Given the description of an element on the screen output the (x, y) to click on. 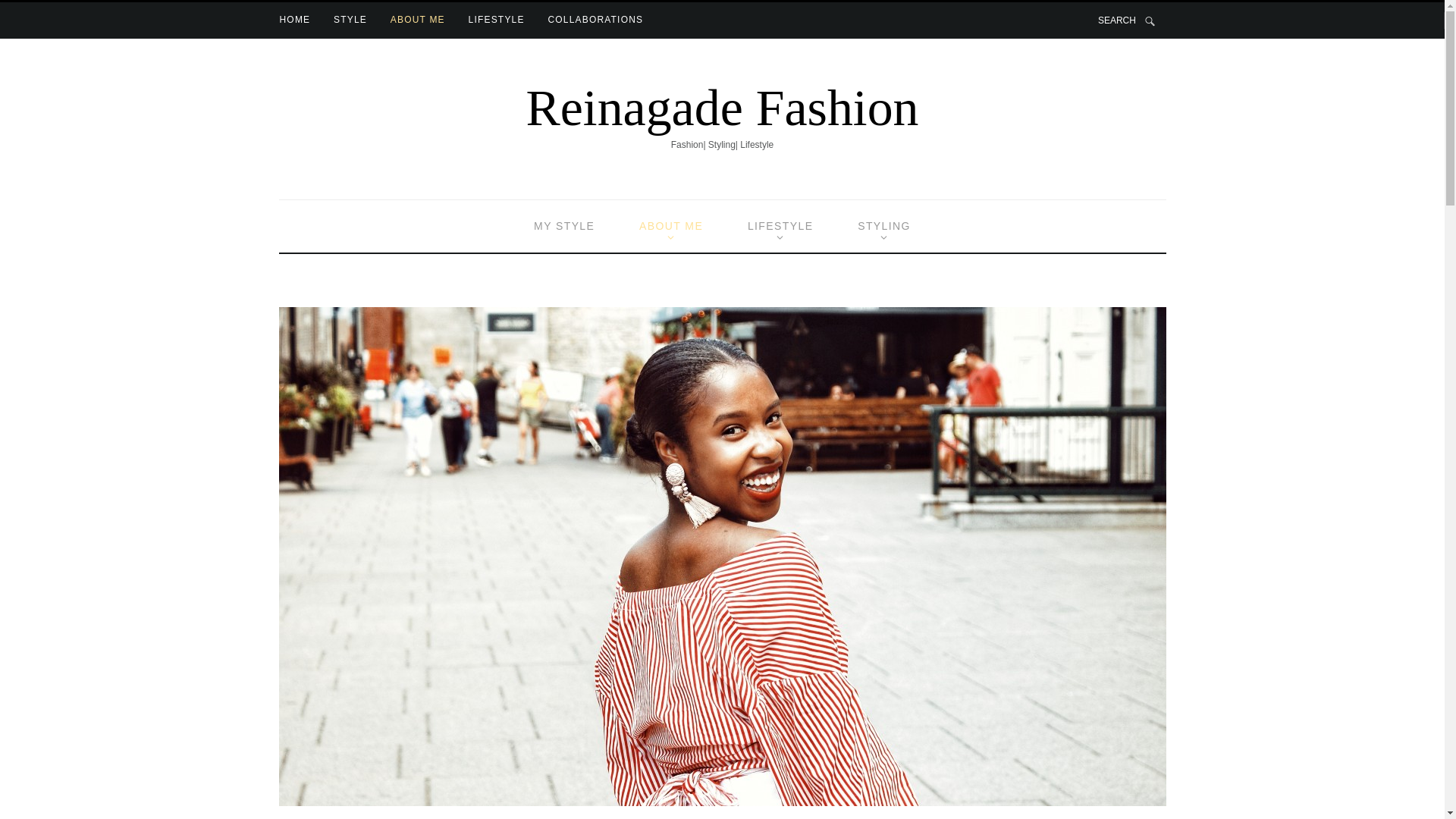
SEARCH (1127, 20)
LIFESTYLE (496, 20)
HOME (295, 20)
ABOUT ME (417, 20)
COLLABORATIONS (595, 20)
LIFESTYLE (780, 225)
STYLING (883, 225)
ABOUT ME (670, 225)
MY STYLE (563, 225)
STYLE (350, 20)
